Given the description of an element on the screen output the (x, y) to click on. 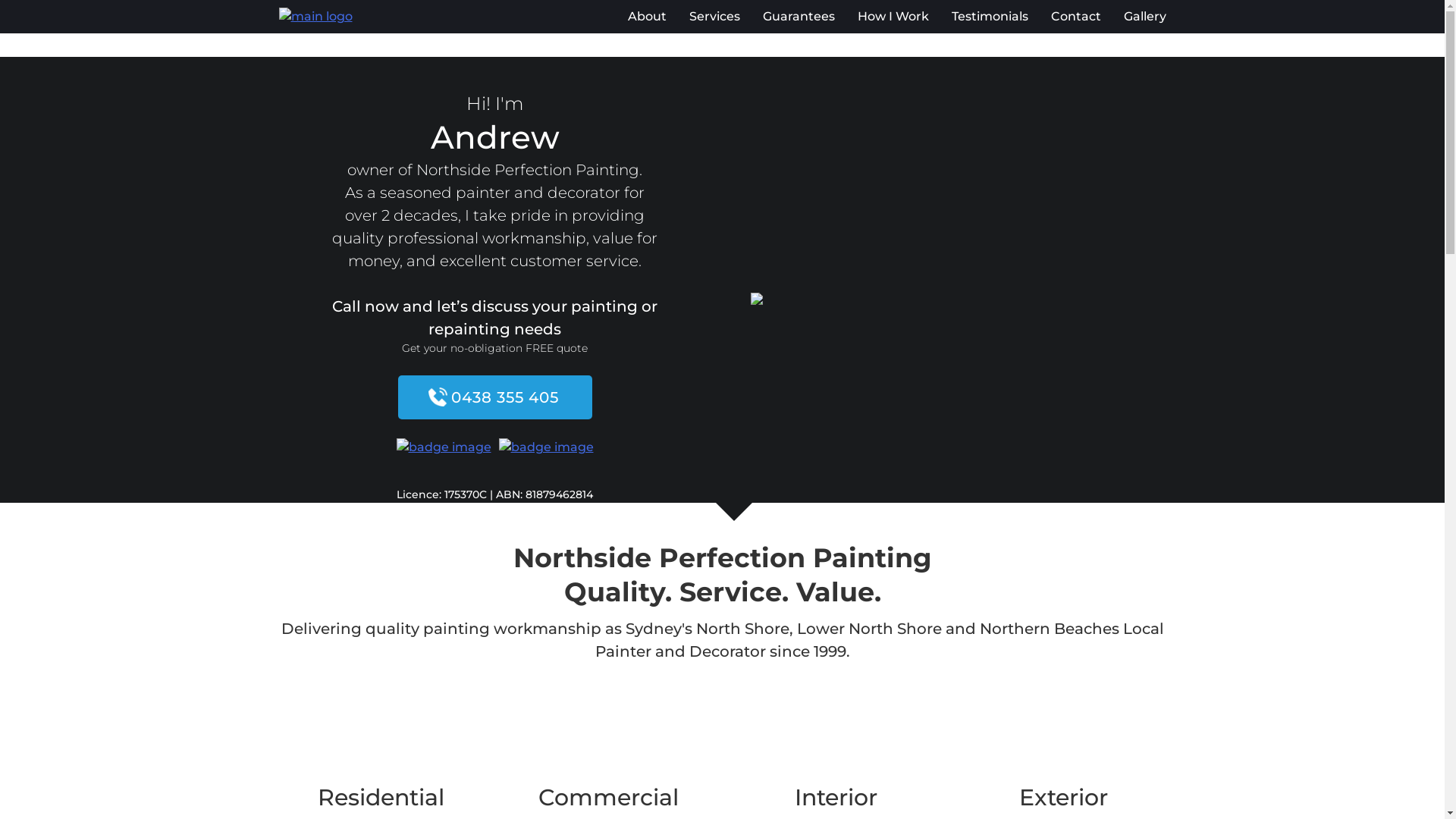
Services Element type: text (713, 16)
Guarantees Element type: text (798, 16)
About Element type: text (646, 16)
How I Work Element type: text (892, 16)
Contact Element type: text (1076, 16)
0438 355 405 Element type: text (494, 397)
Gallery Element type: text (1144, 16)
Testimonials Element type: text (988, 16)
